Given the description of an element on the screen output the (x, y) to click on. 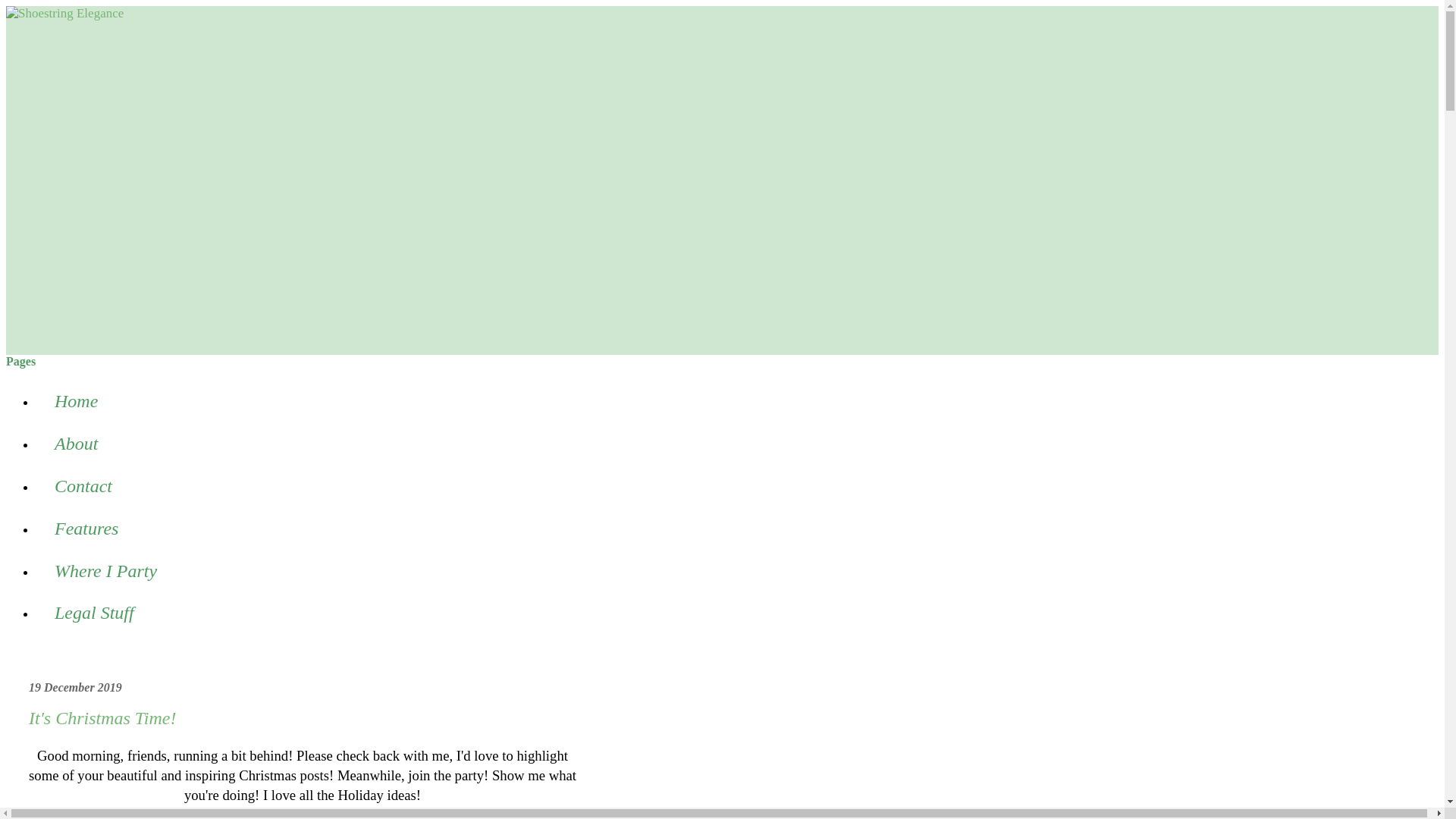
Legal Stuff (94, 613)
The Crowned Goat (421, 812)
About (76, 444)
Contact (83, 486)
Where I Party (105, 570)
It's Christmas Time! (102, 718)
Home (76, 401)
Features (86, 527)
